Given the description of an element on the screen output the (x, y) to click on. 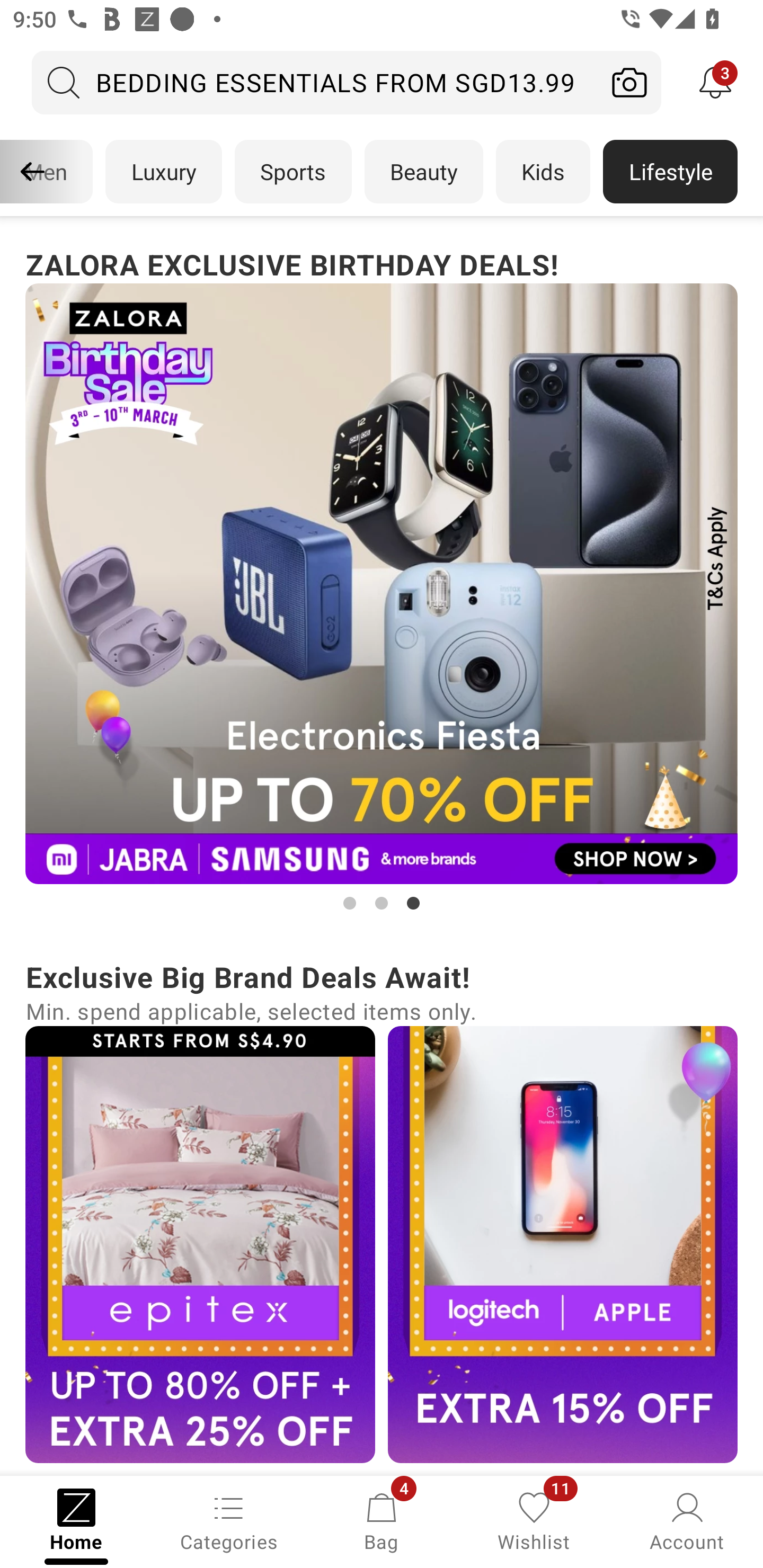
BEDDING ESSENTIALS FROM SGD13.99 (314, 82)
Luxury (163, 171)
Sports (293, 171)
Beauty (423, 171)
Kids (542, 171)
Lifestyle (669, 171)
ZALORA EXCLUSIVE BIRTHDAY DEALS! Campaign banner (381, 578)
Campaign banner (381, 583)
Campaign banner (200, 1243)
Campaign banner (562, 1243)
Categories (228, 1519)
Bag, 4 new notifications Bag (381, 1519)
Wishlist, 11 new notifications Wishlist (533, 1519)
Account (686, 1519)
